Given the description of an element on the screen output the (x, y) to click on. 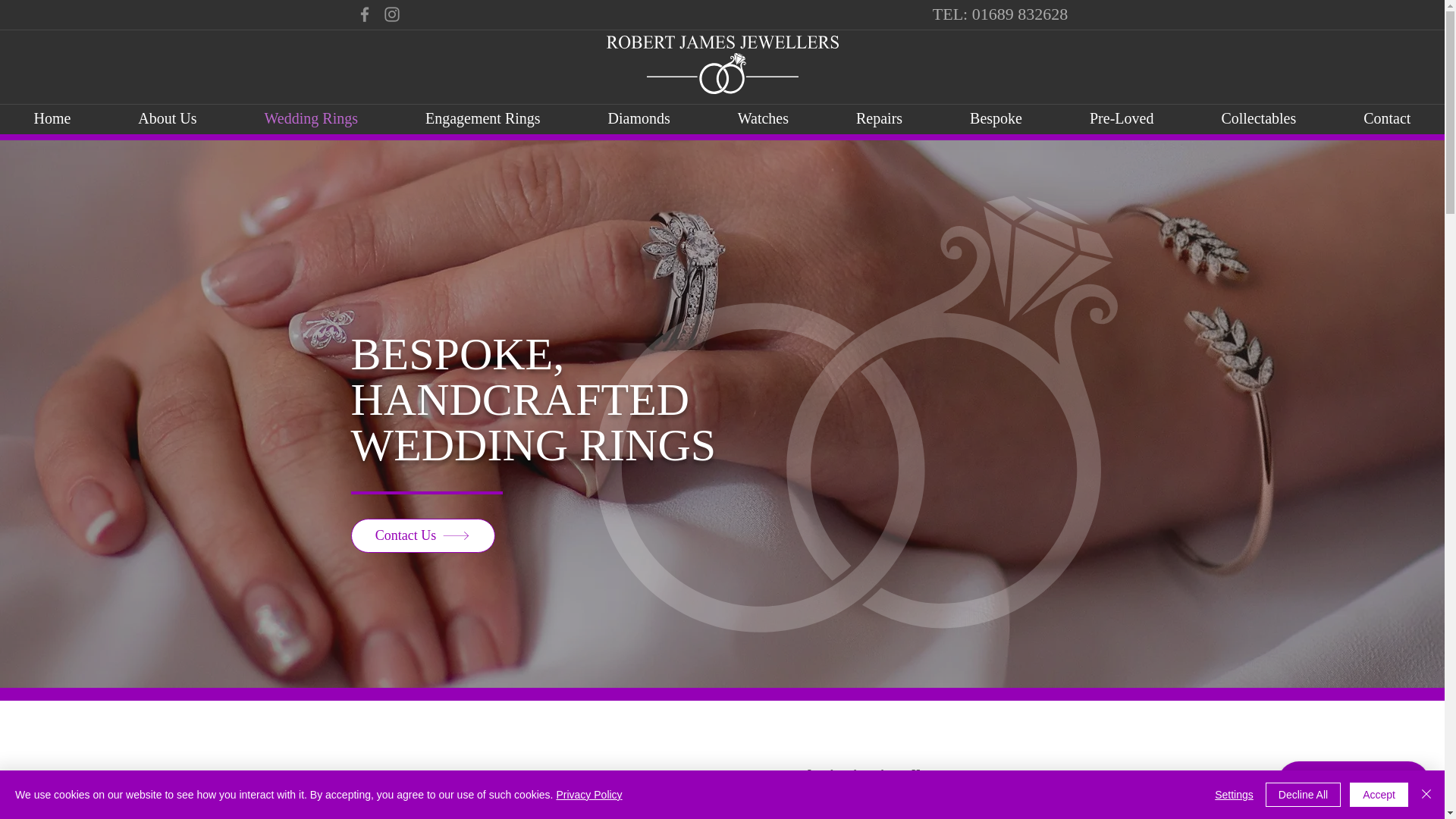
Collectables (1259, 118)
Wedding Rings (310, 118)
Bespoke (996, 118)
Contact Us (422, 535)
Diamonds (638, 118)
About Us (167, 118)
Decline All (1302, 794)
Pre-Loved (1120, 118)
Accept (1378, 794)
Repairs (879, 118)
Engagement Rings (482, 118)
Watches (762, 118)
Home (52, 118)
Privacy Policy (588, 794)
